Given the description of an element on the screen output the (x, y) to click on. 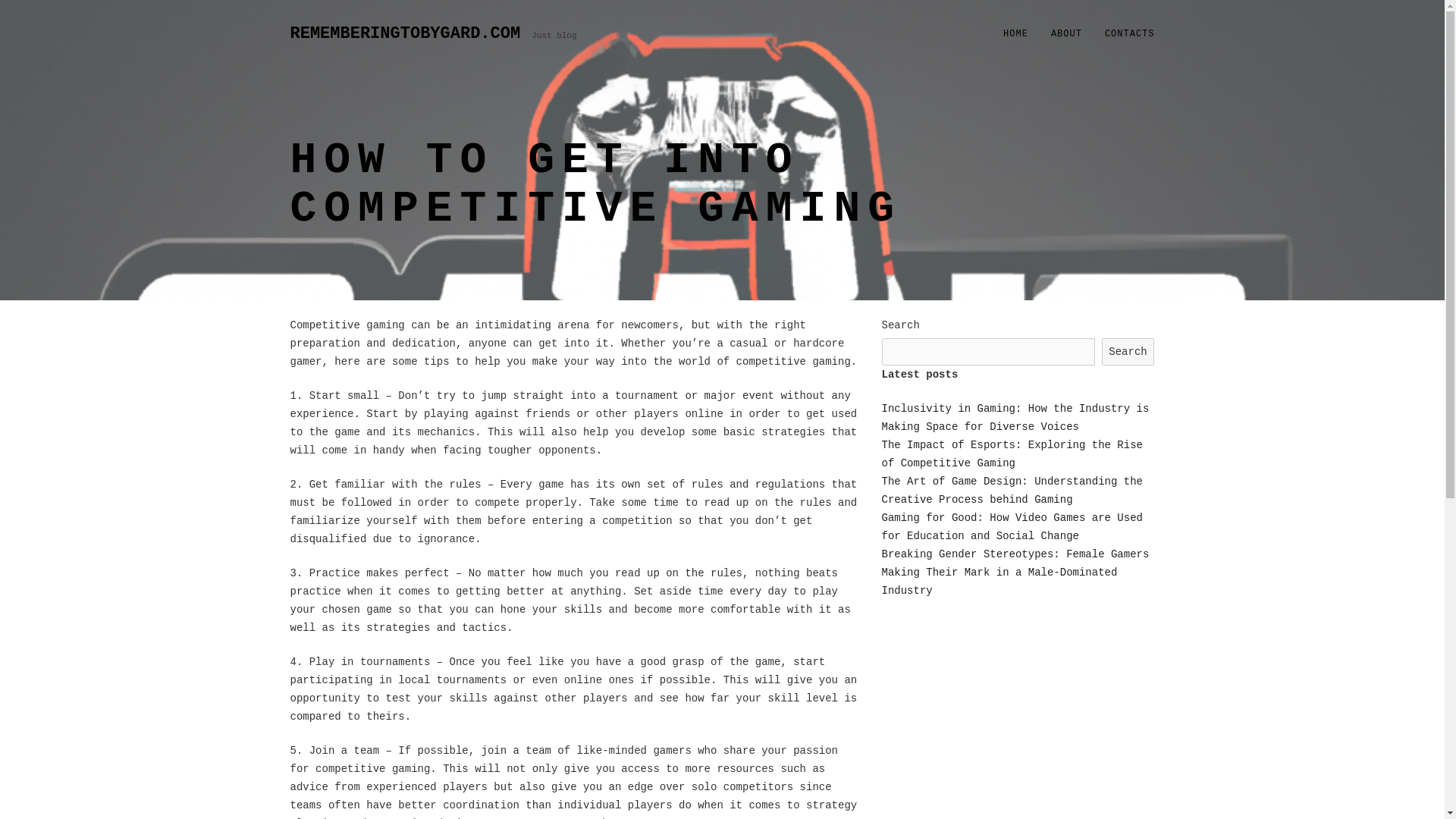
HOME (1015, 34)
CONTACTS (1129, 34)
ABOUT (1066, 34)
Search (1128, 352)
About (1066, 34)
Home (1015, 34)
Contacts (1129, 34)
